Given the description of an element on the screen output the (x, y) to click on. 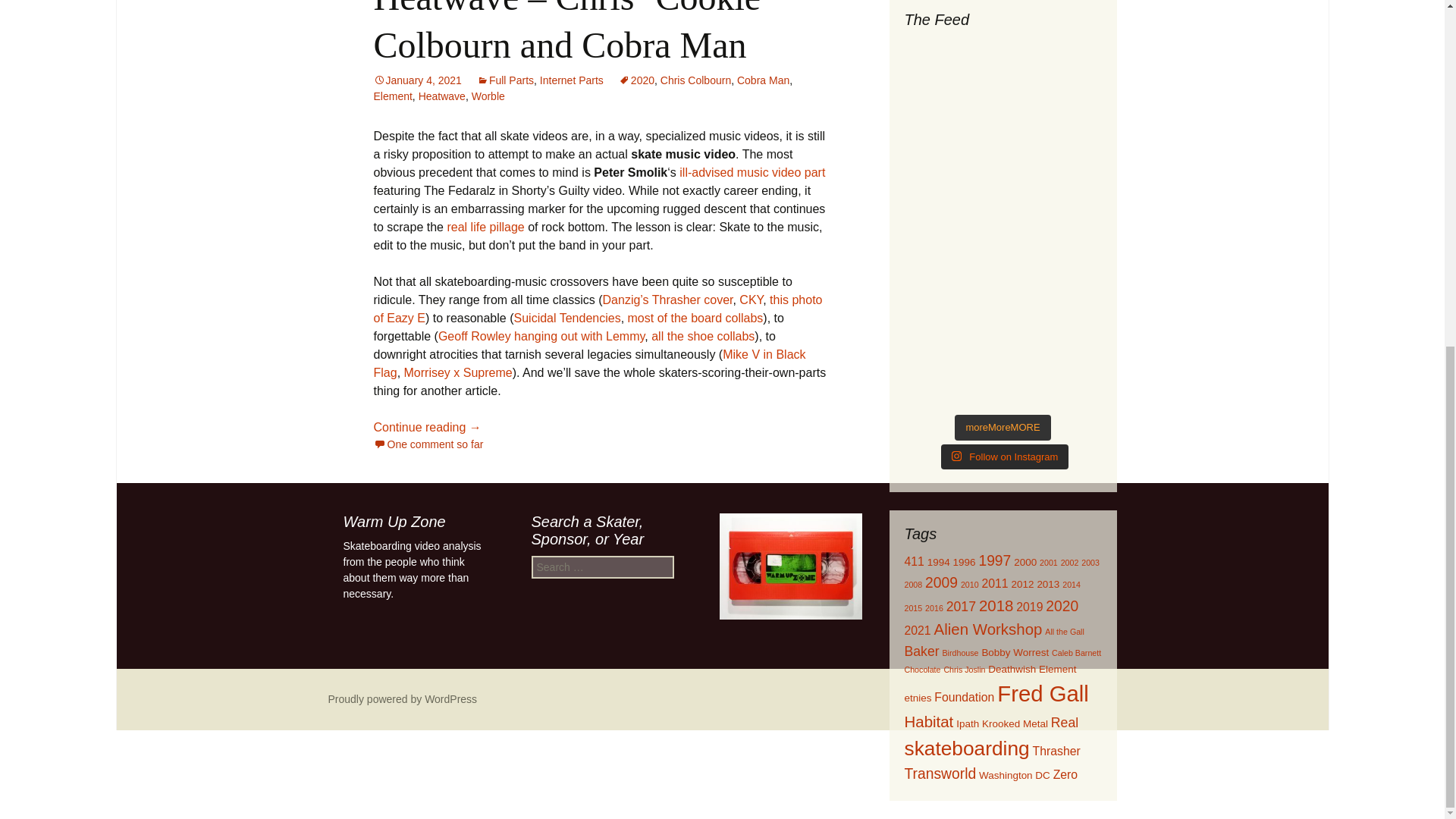
shoe (700, 336)
board (706, 318)
this photo of Eazy E (597, 308)
January 4, 2021 (416, 80)
collabs (743, 318)
Heatwave (442, 96)
Full Parts (505, 80)
Chris Colbourn (695, 80)
ill-advised music video part (752, 172)
Cobra Man (762, 80)
